Given the description of an element on the screen output the (x, y) to click on. 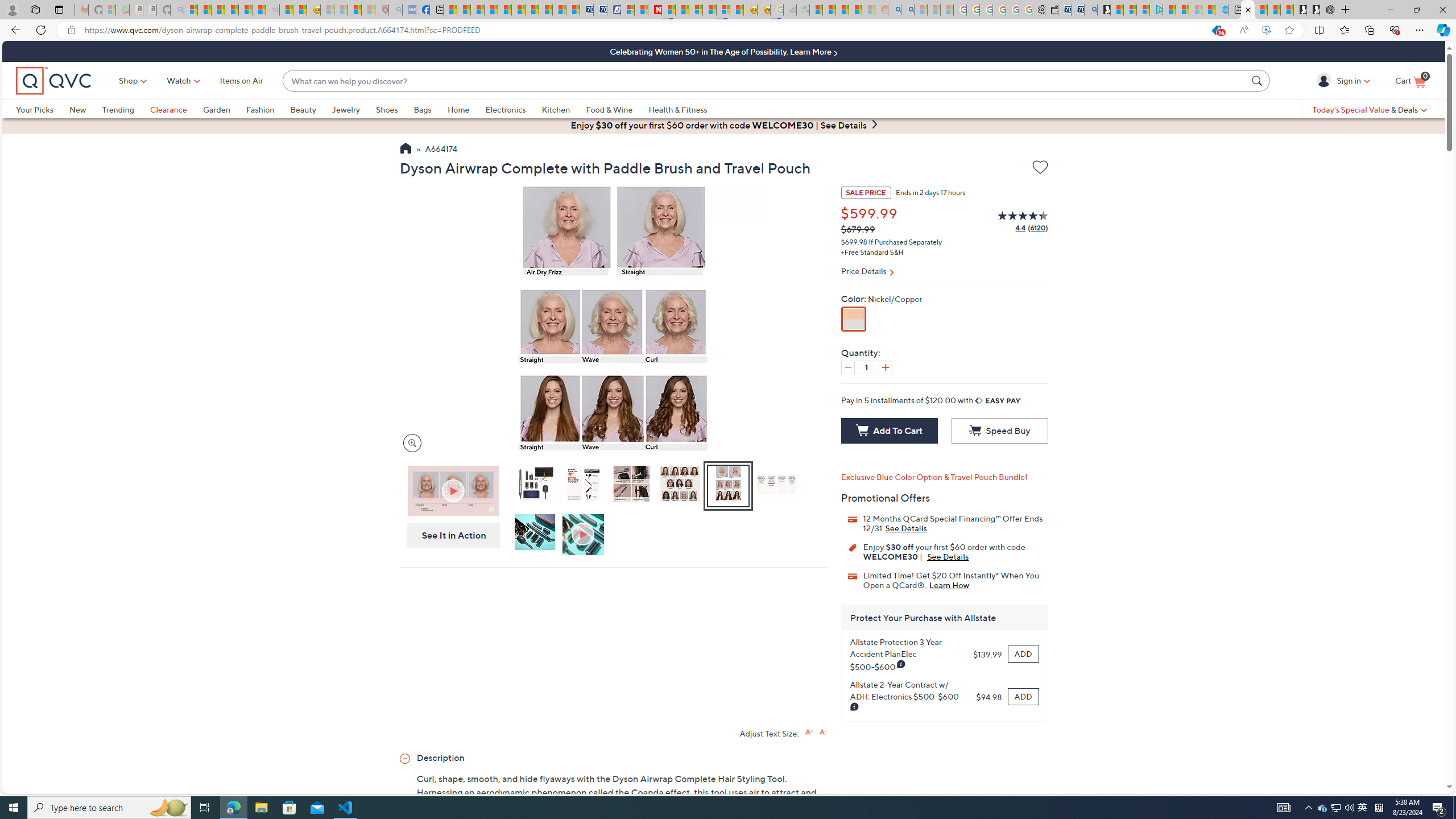
Shop (129, 80)
Today's Special Value & Deals (1369, 109)
QVC home (53, 80)
Shoes (386, 109)
Add To Cart (888, 430)
